Given the description of an element on the screen output the (x, y) to click on. 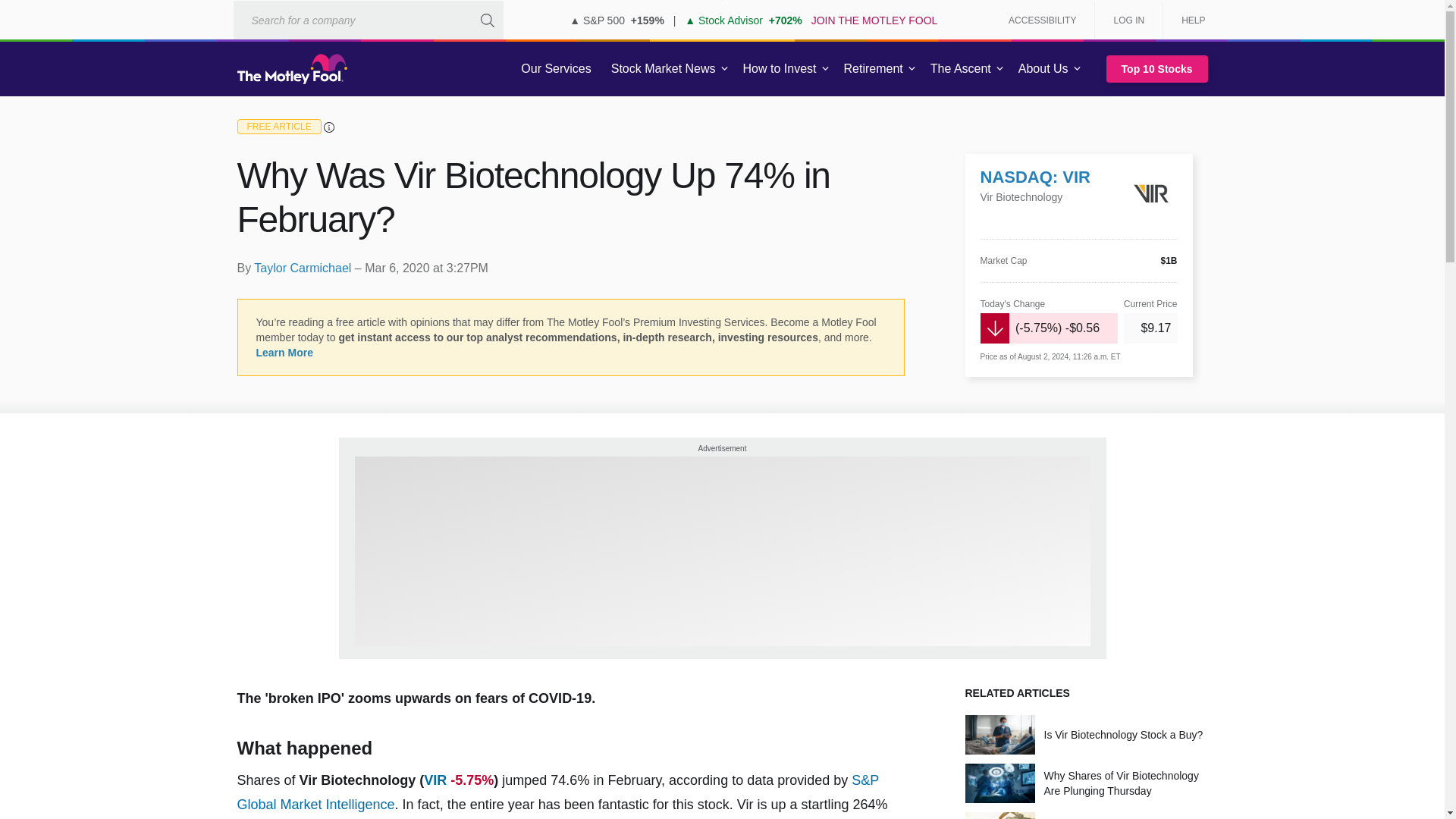
LOG IN (1128, 19)
Our Services (555, 68)
HELP (1187, 19)
ACCESSIBILITY (1042, 19)
Stock Market News (662, 68)
How to Invest (779, 68)
